Given the description of an element on the screen output the (x, y) to click on. 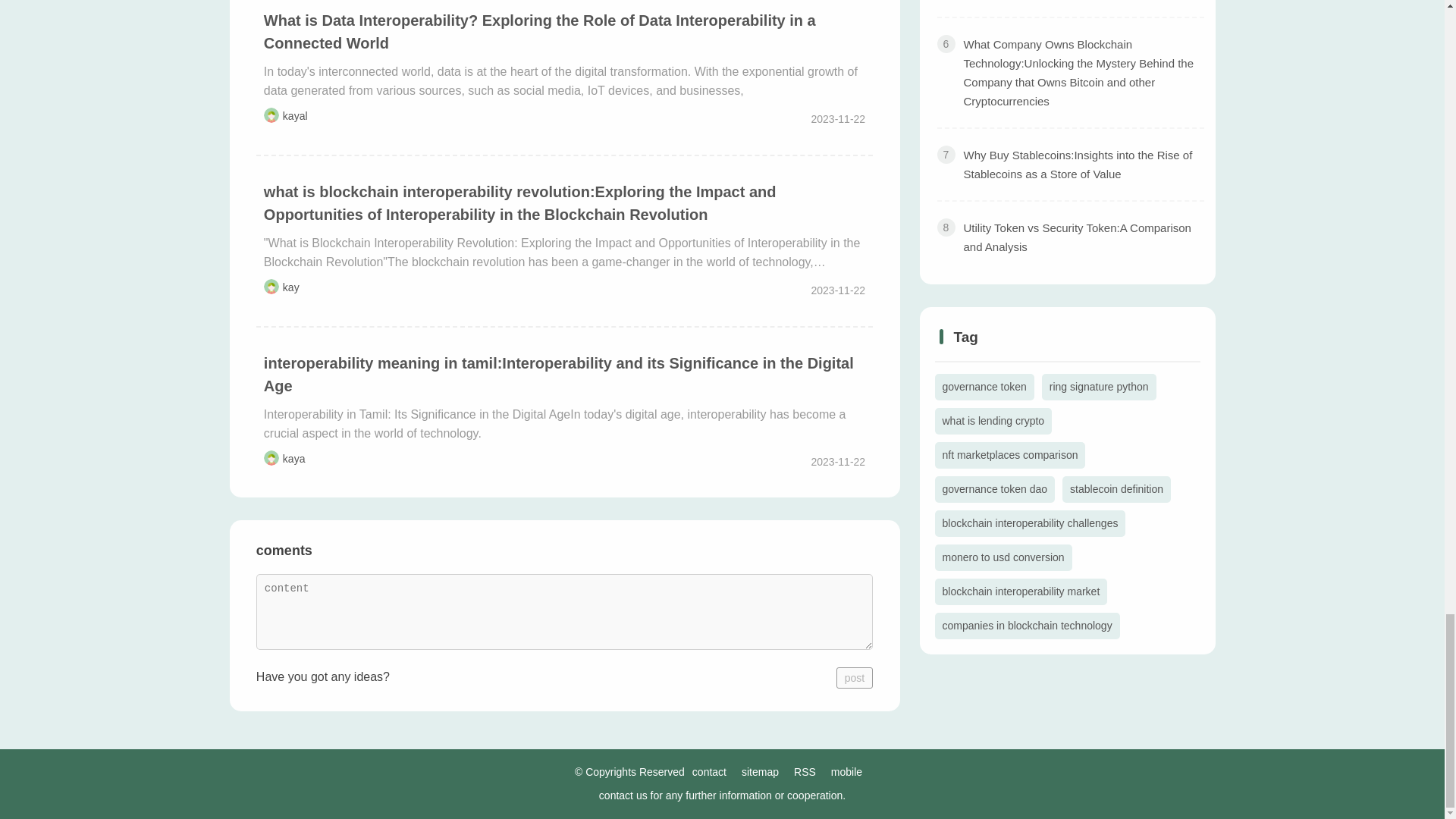
kay (290, 287)
kaya (293, 458)
kayal (294, 115)
post (853, 677)
